Given the description of an element on the screen output the (x, y) to click on. 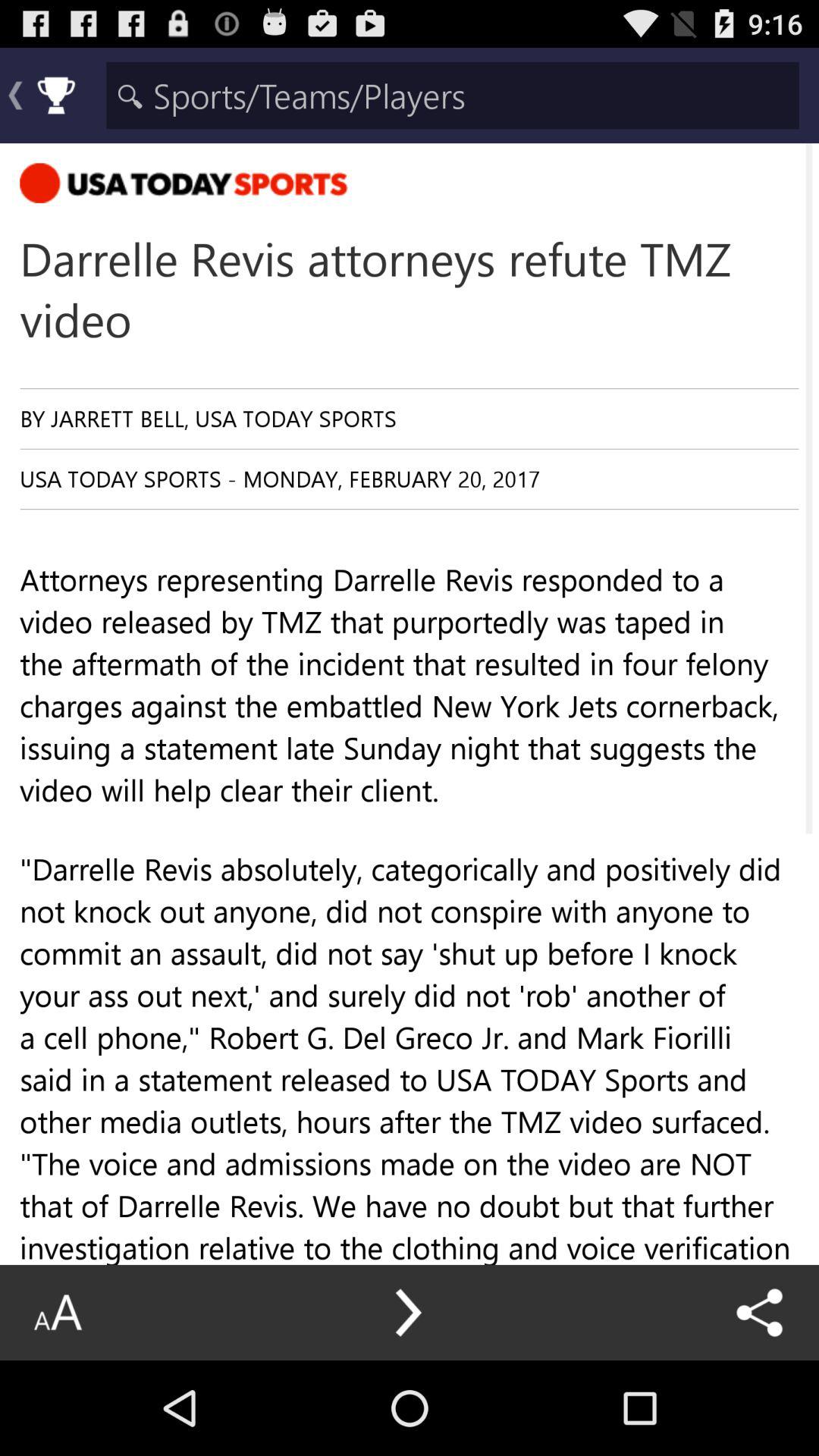
click the the 11 second icon (409, 1355)
